Given the description of an element on the screen output the (x, y) to click on. 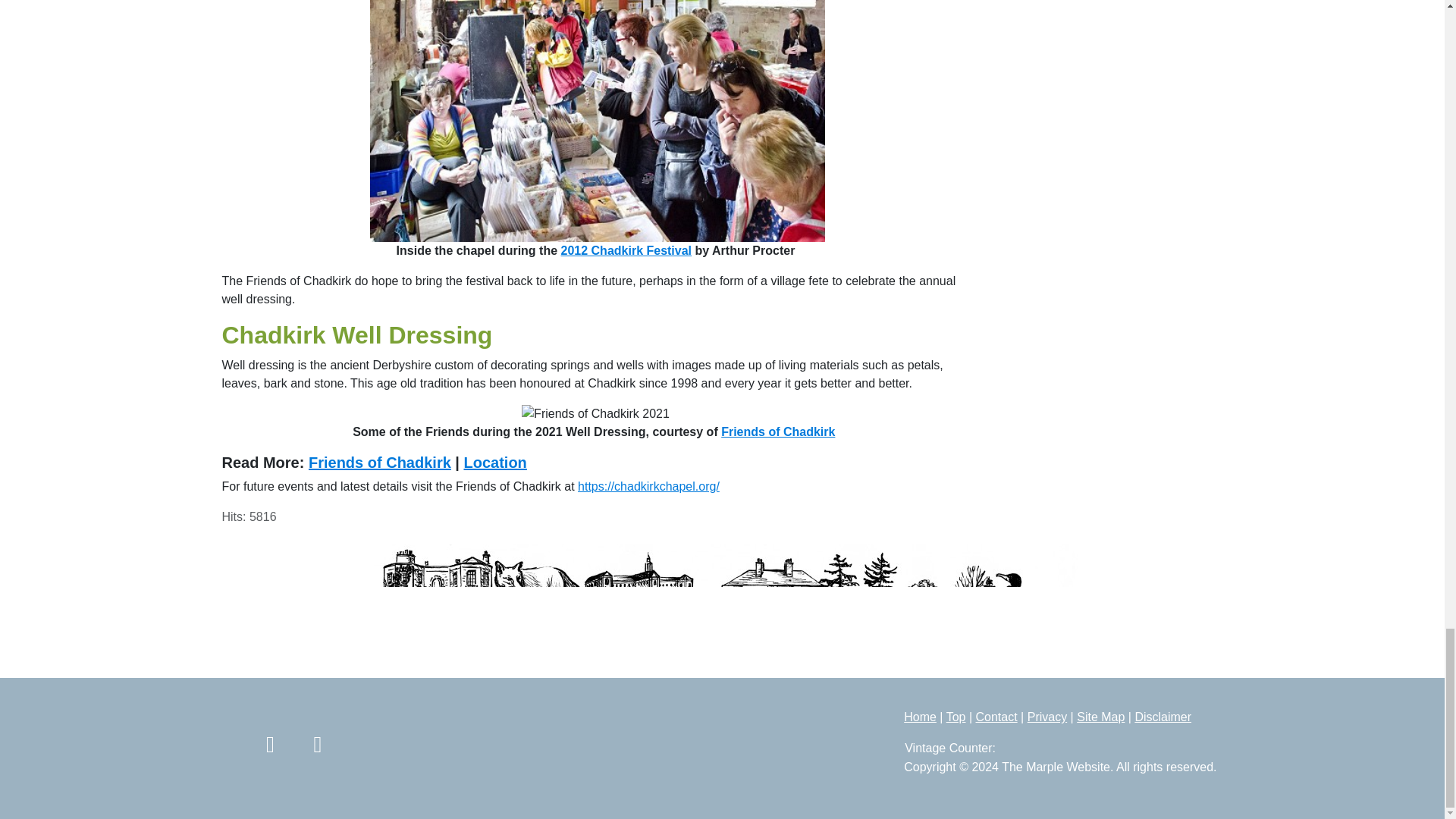
Home (920, 716)
Friends of Chadkirk 2021 (595, 413)
Inside the chapel during a Chadkirk Festival (597, 120)
